Given the description of an element on the screen output the (x, y) to click on. 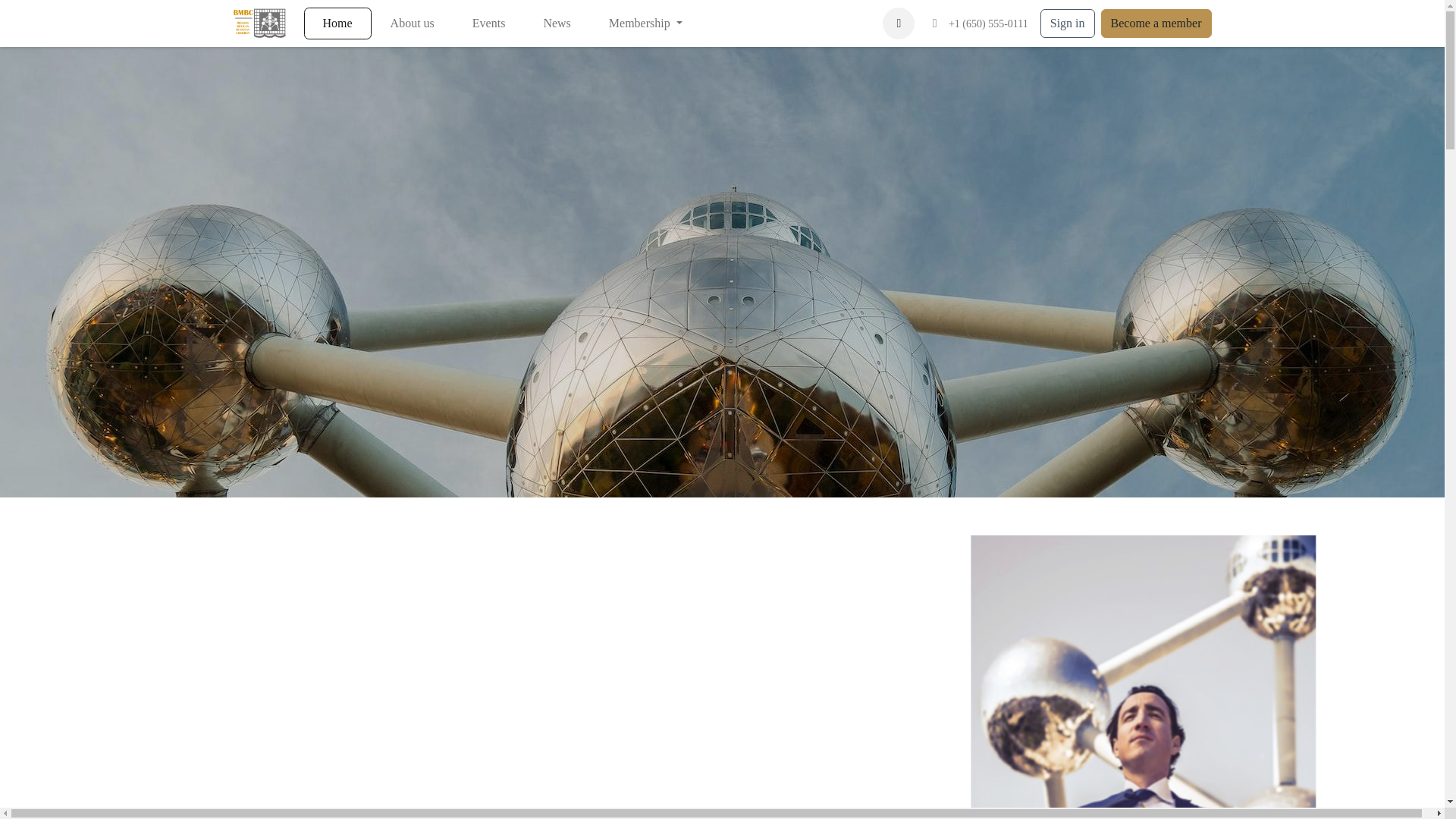
Become a member (1155, 23)
Sign in (1067, 23)
Events (488, 23)
Search (898, 23)
BMBC (258, 23)
Membership (645, 23)
News (556, 23)
About us (411, 23)
Home (336, 23)
